Given the description of an element on the screen output the (x, y) to click on. 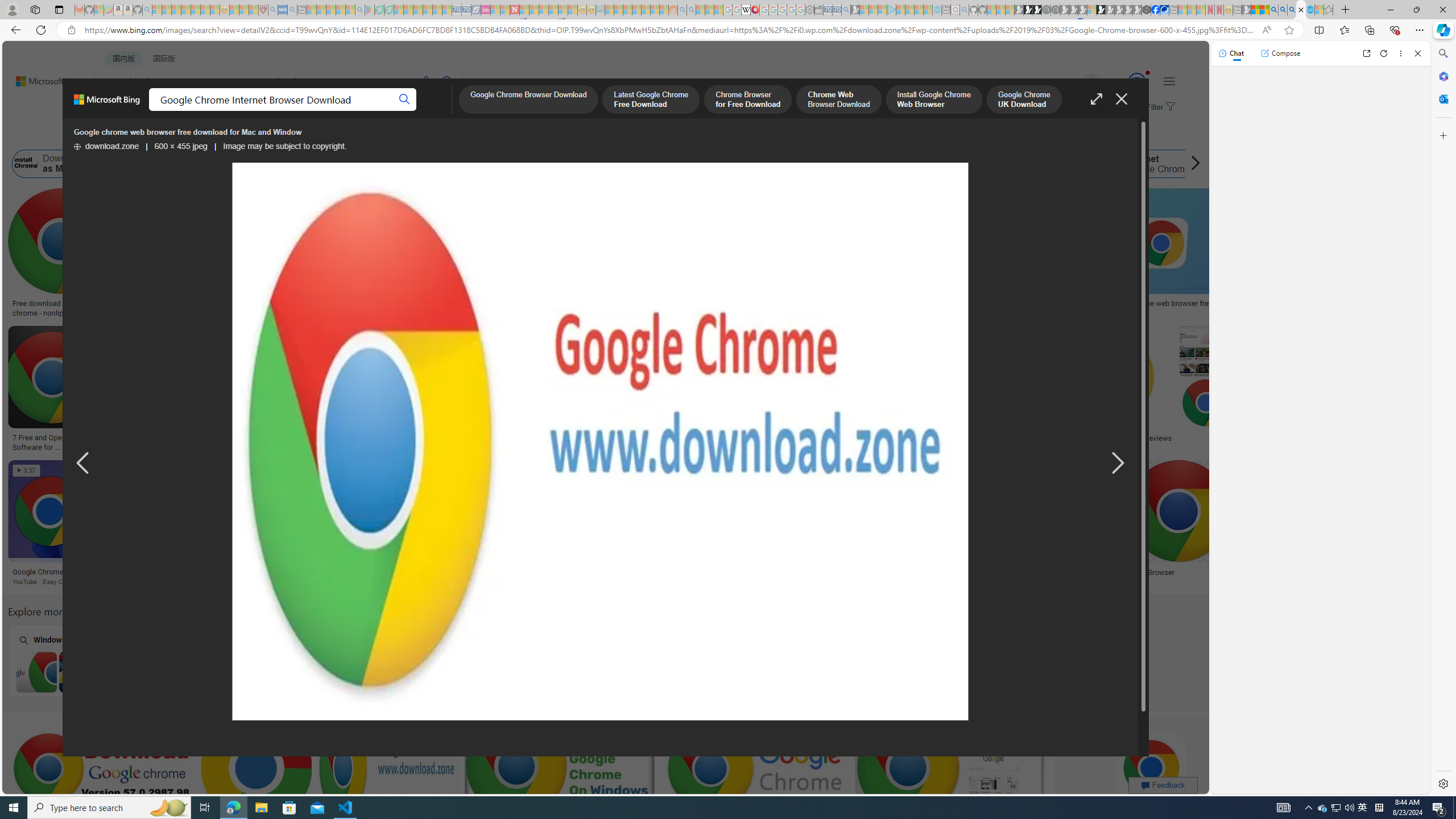
Class: b_pri_nav_svg (240, 112)
How to download & install Chrome on Windows 10 /11Save (1000, 254)
Download internet explorer 9.0 free - snorobot (454, 571)
Full screen (1096, 99)
